Given the description of an element on the screen output the (x, y) to click on. 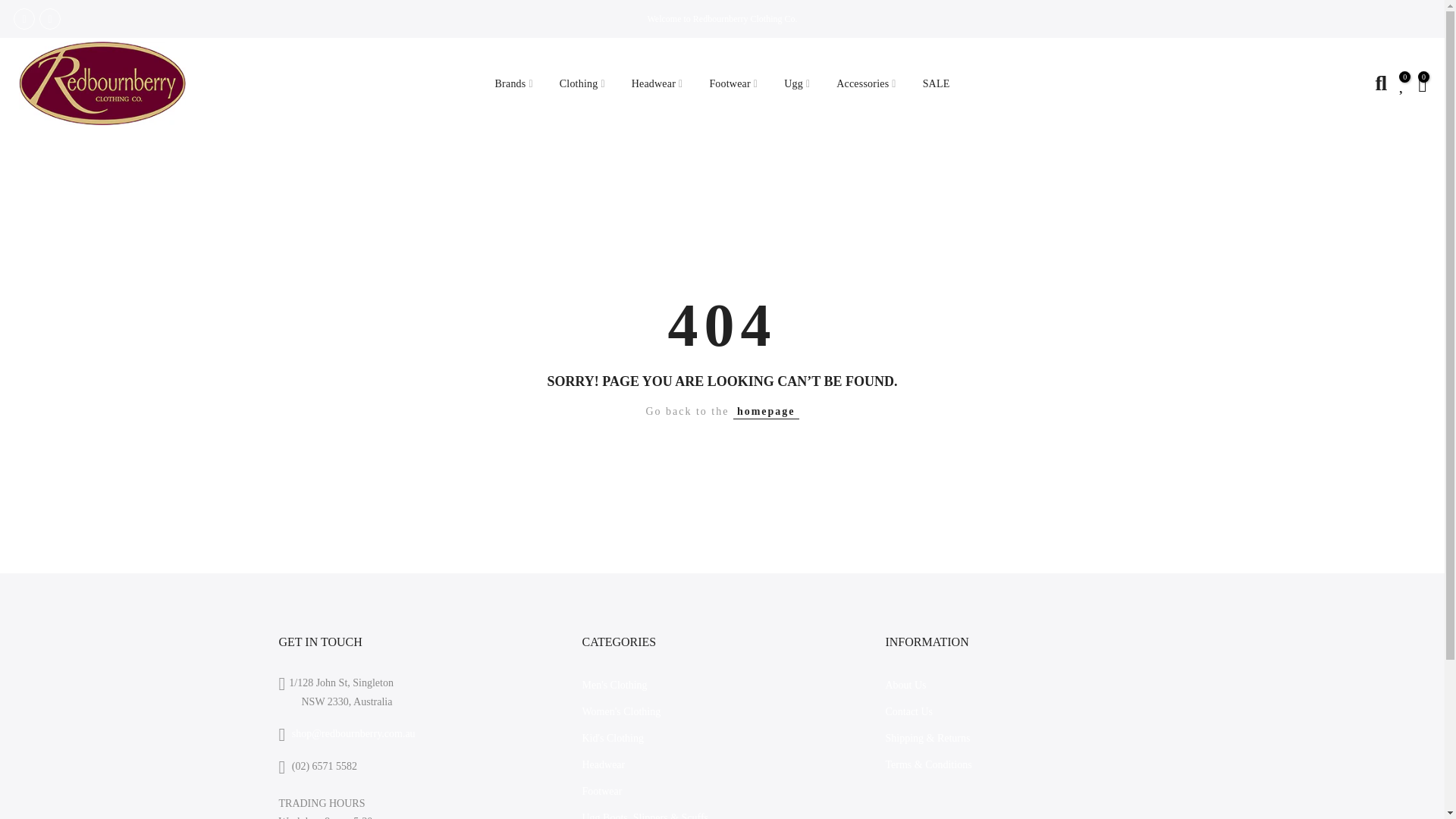
Kid's Clothing (611, 737)
Footwear (733, 83)
Headwear (656, 83)
Accessories (866, 83)
Headwear (602, 764)
SALE (935, 83)
Women's Clothing (620, 711)
Ugg (797, 83)
Men's Clothing (613, 685)
homepage (766, 411)
Footwear (600, 790)
Contact Us (909, 711)
About Us (905, 685)
Clothing (581, 83)
Brands (513, 83)
